Given the description of an element on the screen output the (x, y) to click on. 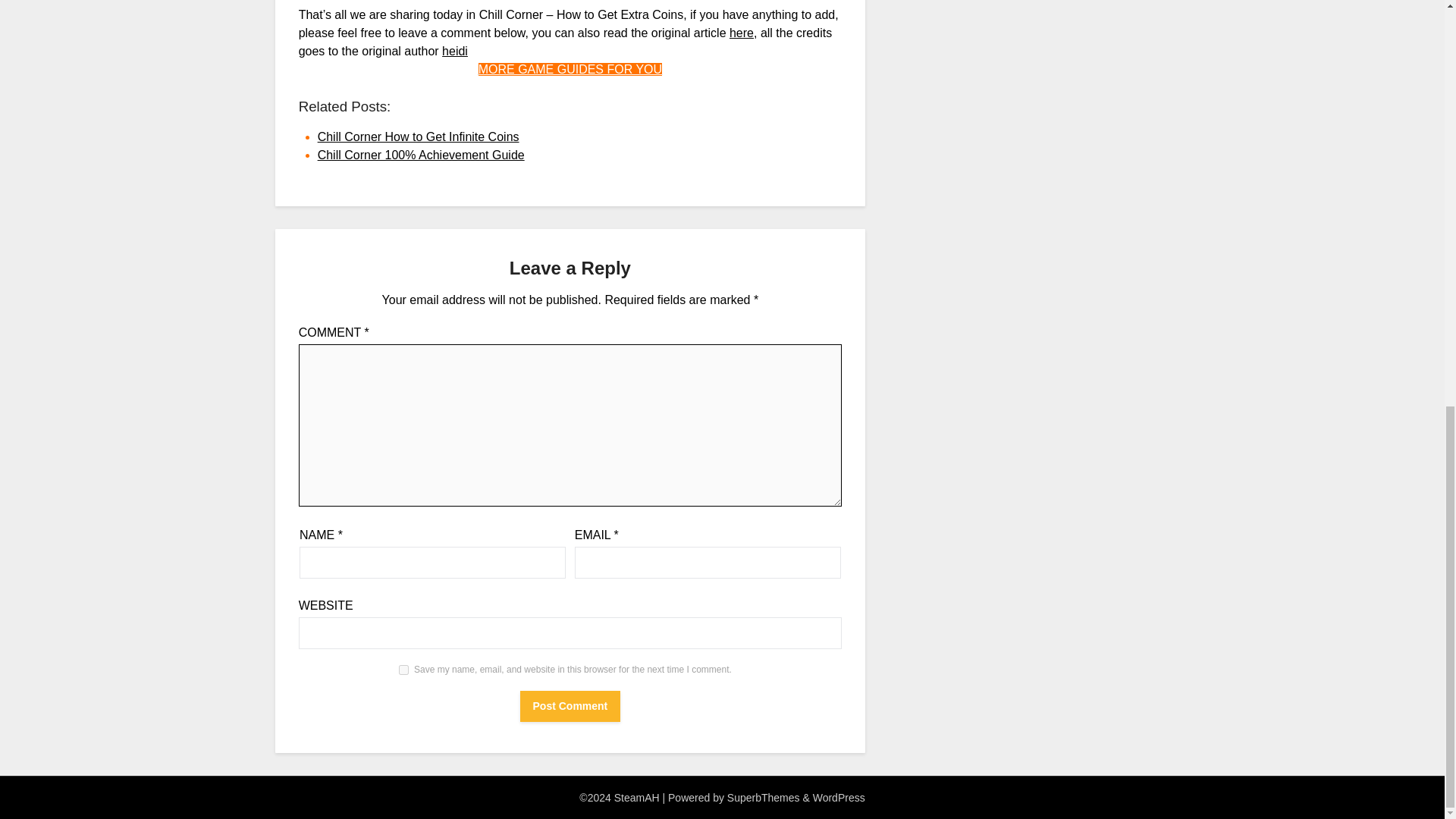
here (741, 32)
Post Comment (570, 706)
yes (403, 669)
heidi (454, 51)
MORE GAME GUIDES FOR YOU (570, 69)
Post Comment (570, 706)
SuperbThemes (762, 797)
Chill Corner How to Get Infinite Coins (418, 136)
Chill Corner How to Get Infinite Coins (418, 136)
